Given the description of an element on the screen output the (x, y) to click on. 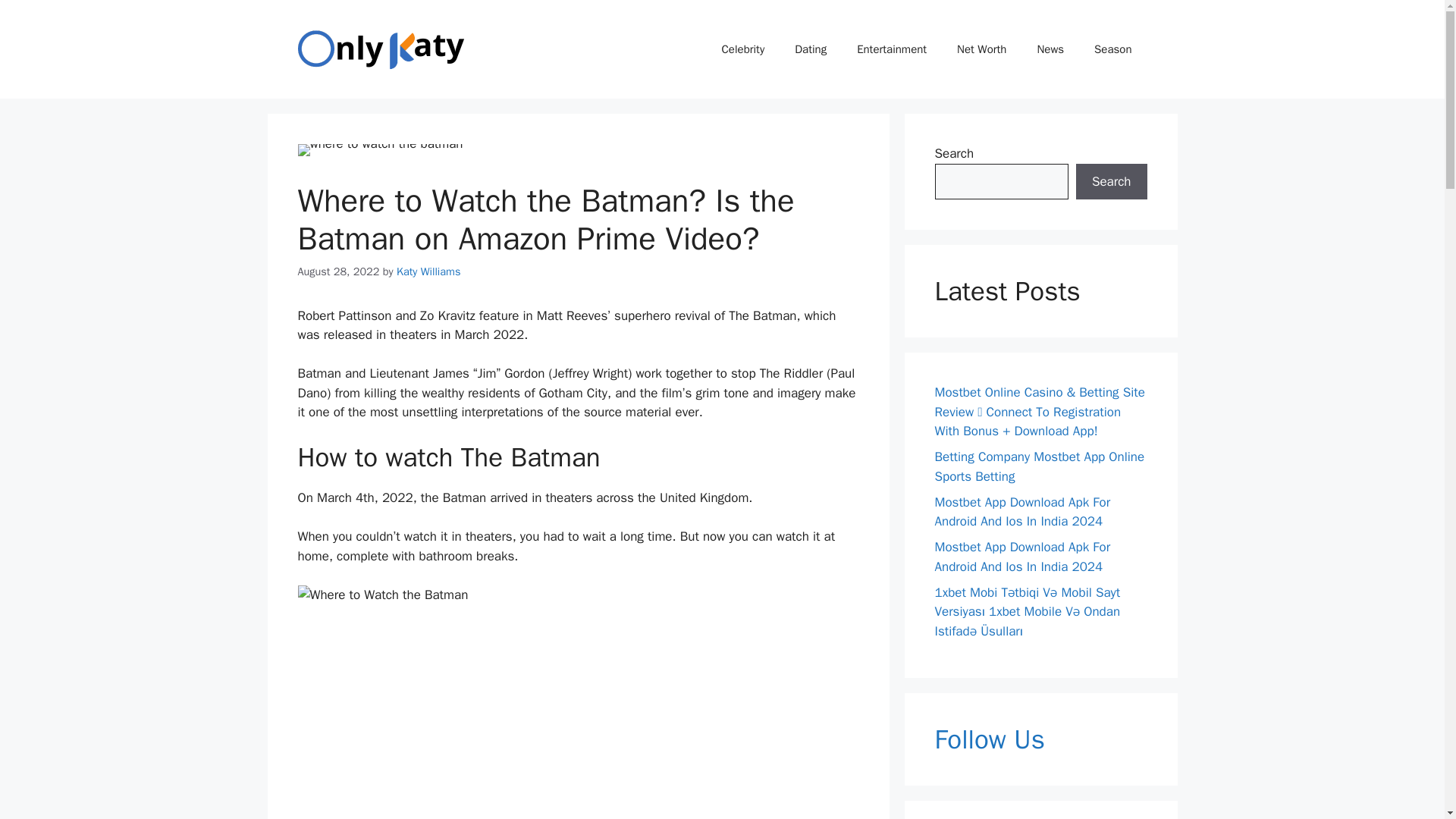
Katy Williams (428, 271)
Follow Us (1040, 739)
Mostbet App Download Apk For Android And Ios In India 2024 (1021, 511)
View all posts by Katy Williams (428, 271)
Dating (809, 49)
Betting Company Mostbet App Online Sports Betting (1039, 466)
Celebrity (743, 49)
Net Worth (982, 49)
Season (1112, 49)
Entertainment (891, 49)
News (1050, 49)
Search (1111, 181)
Mostbet App Download Apk For Android And Ios In India 2024 (1021, 556)
